Given the description of an element on the screen output the (x, y) to click on. 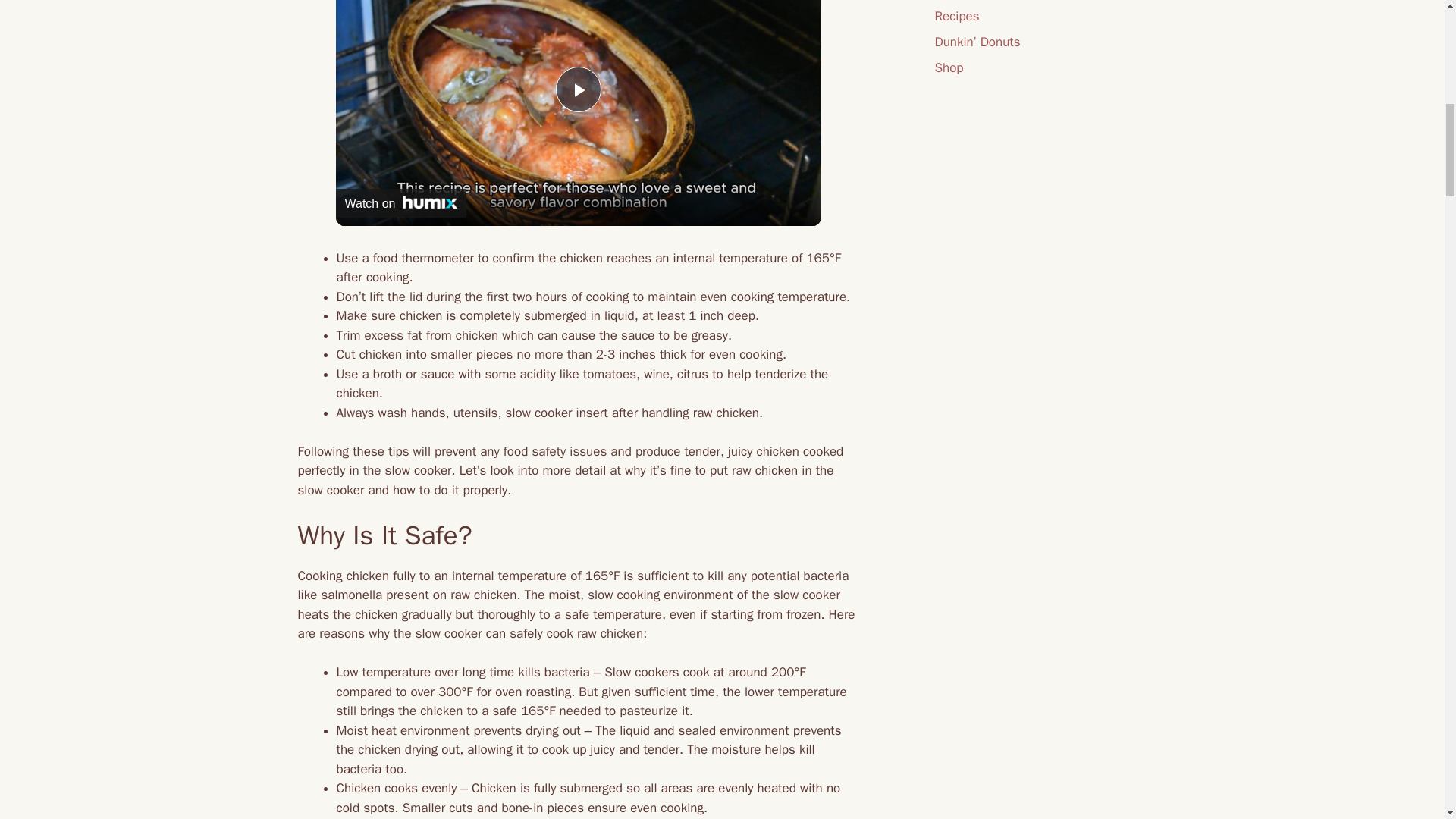
Play Video (576, 89)
Play Video (576, 89)
